Given the description of an element on the screen output the (x, y) to click on. 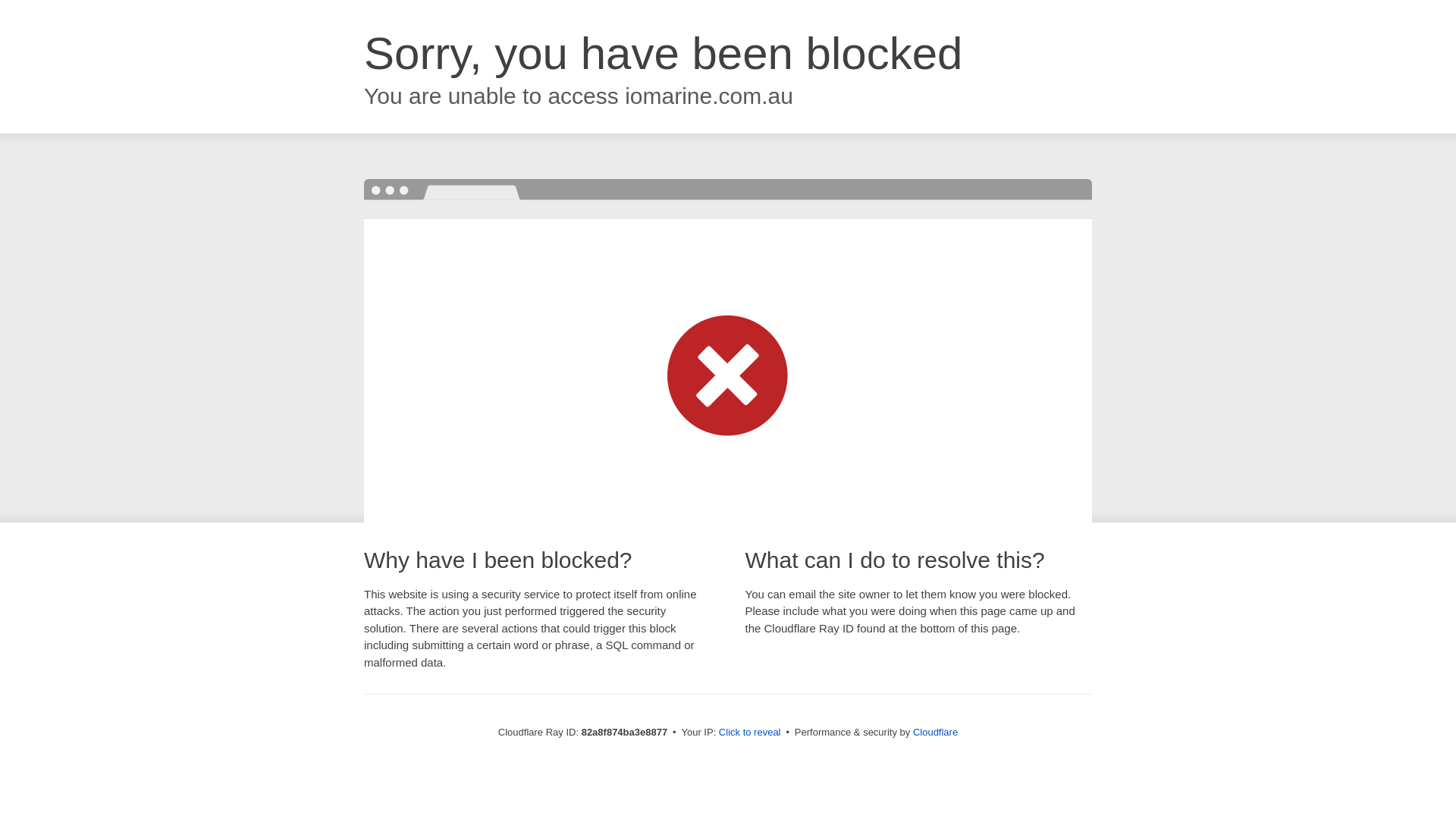
Cloudflare Element type: text (935, 731)
Click to reveal Element type: text (749, 732)
